Given the description of an element on the screen output the (x, y) to click on. 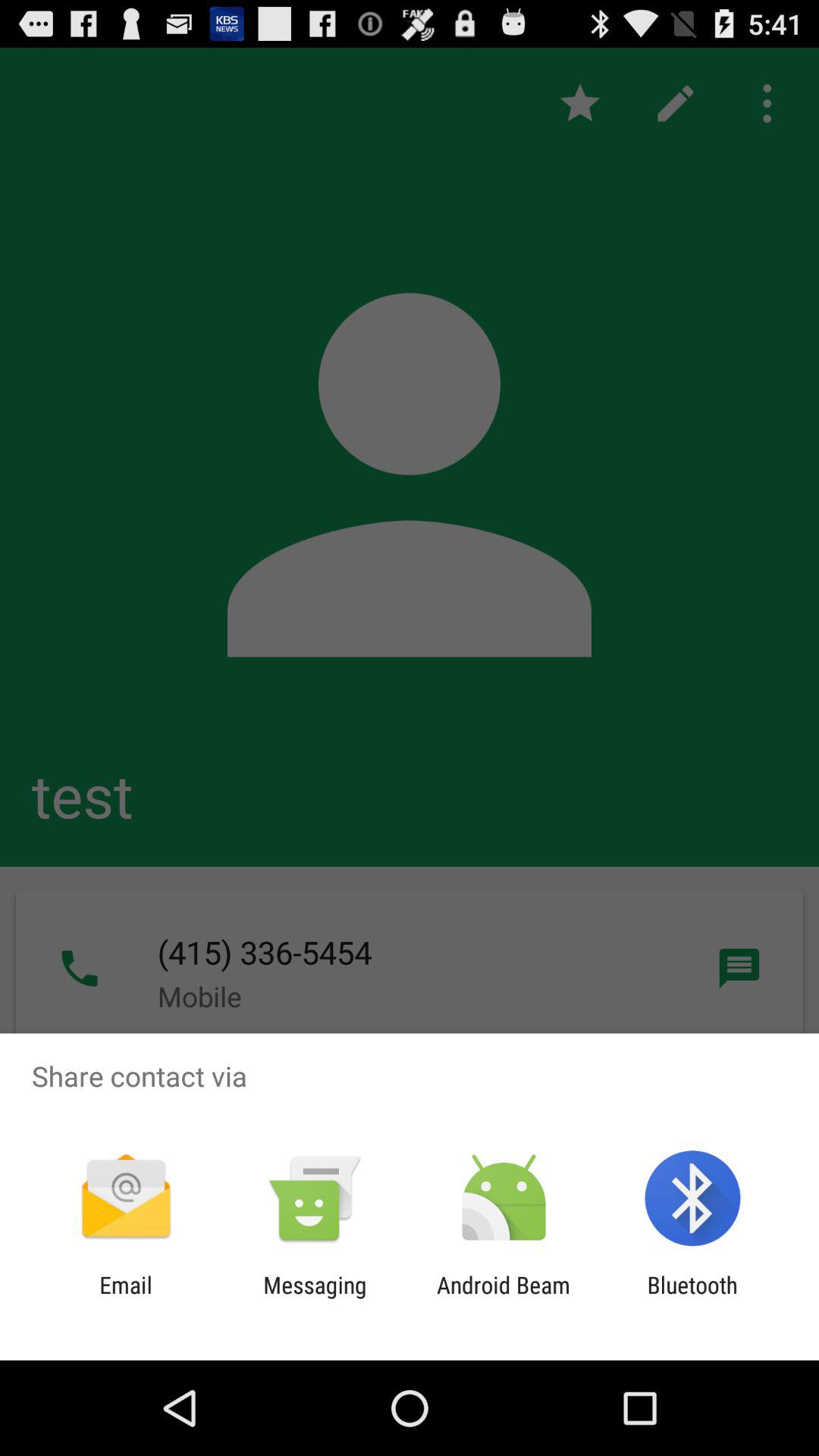
click item next to the messaging app (125, 1298)
